Given the description of an element on the screen output the (x, y) to click on. 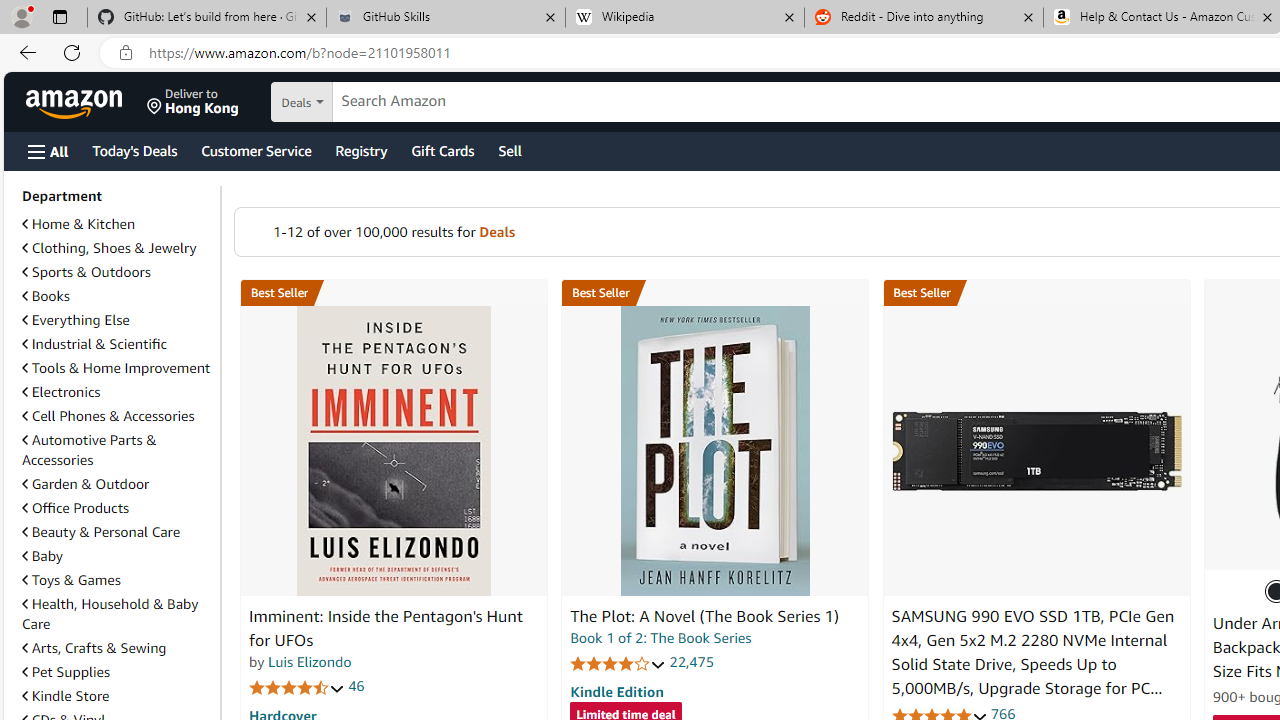
Sports & Outdoors (86, 271)
Automotive Parts & Accessories (89, 449)
Sell (509, 150)
Beauty & Personal Care (100, 531)
Baby (117, 555)
The Plot: A Novel (The Book Series 1) (714, 451)
Health, Household & Baby Care (109, 613)
Home & Kitchen (117, 223)
Skip to main content (86, 100)
Kindle Store (65, 695)
Beauty & Personal Care (117, 532)
Imminent: Inside the Pentagon's Hunt for UFOs (393, 451)
Office Products (117, 507)
